Given the description of an element on the screen output the (x, y) to click on. 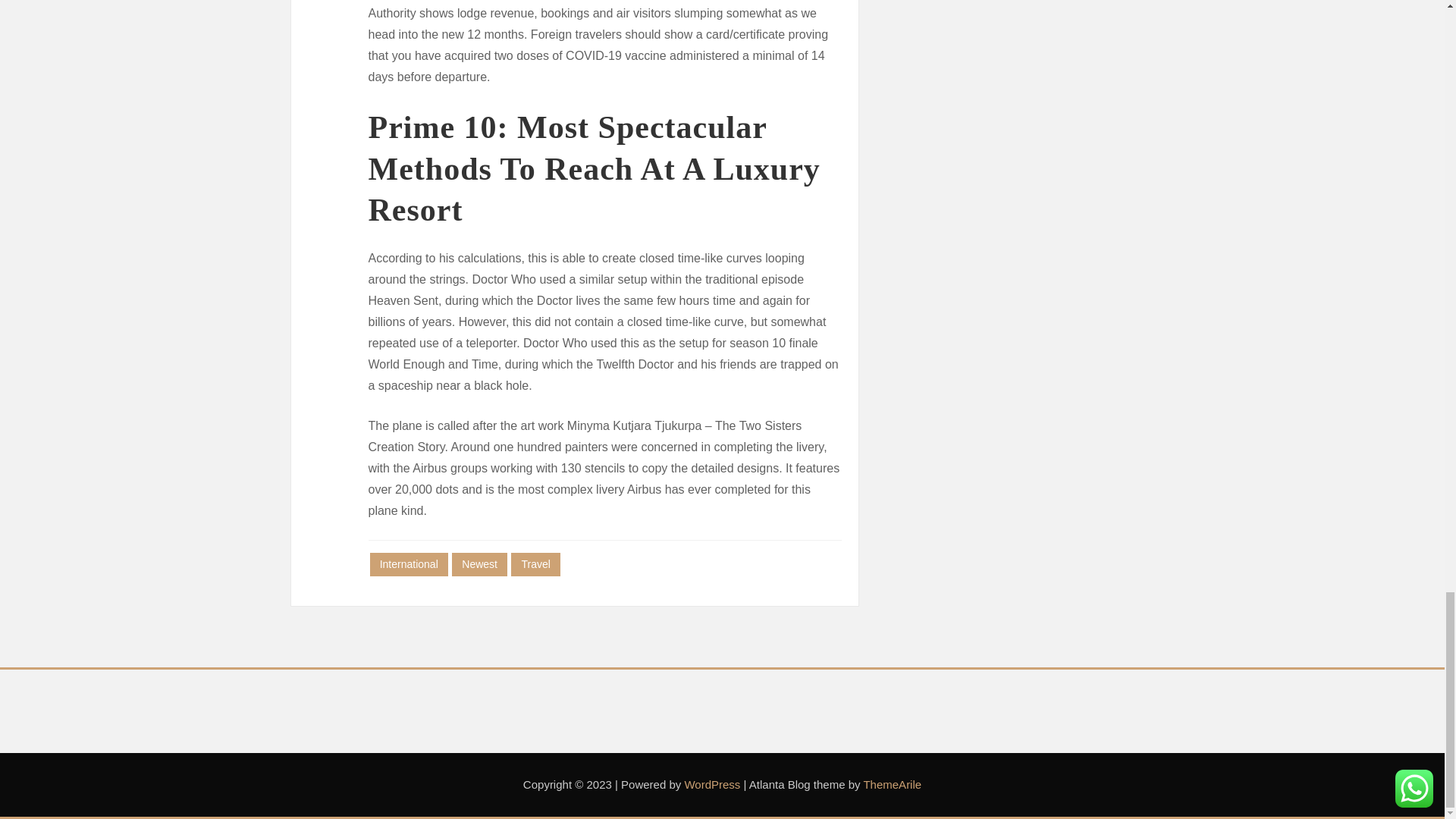
Travel (535, 564)
International (408, 564)
Newest (478, 564)
